Given the description of an element on the screen output the (x, y) to click on. 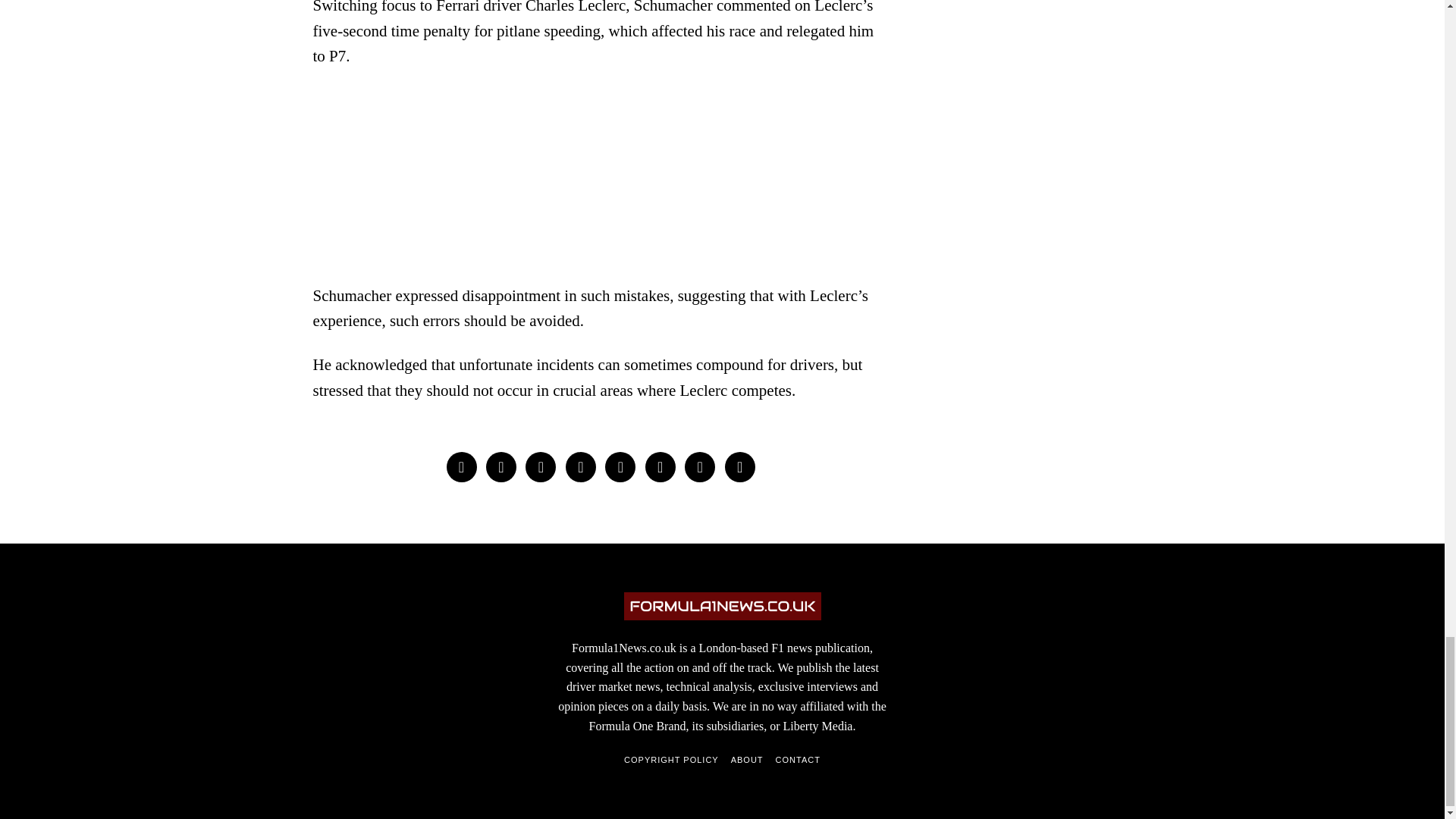
ABOUT (746, 759)
Pinterest (580, 467)
Facebook (460, 467)
COPYRIGHT POLICY (671, 759)
Whatsapp (660, 467)
Email (740, 467)
Messenger (501, 467)
Linkedin (619, 467)
CONTACT (798, 759)
Twitter (540, 467)
